Given the description of an element on the screen output the (x, y) to click on. 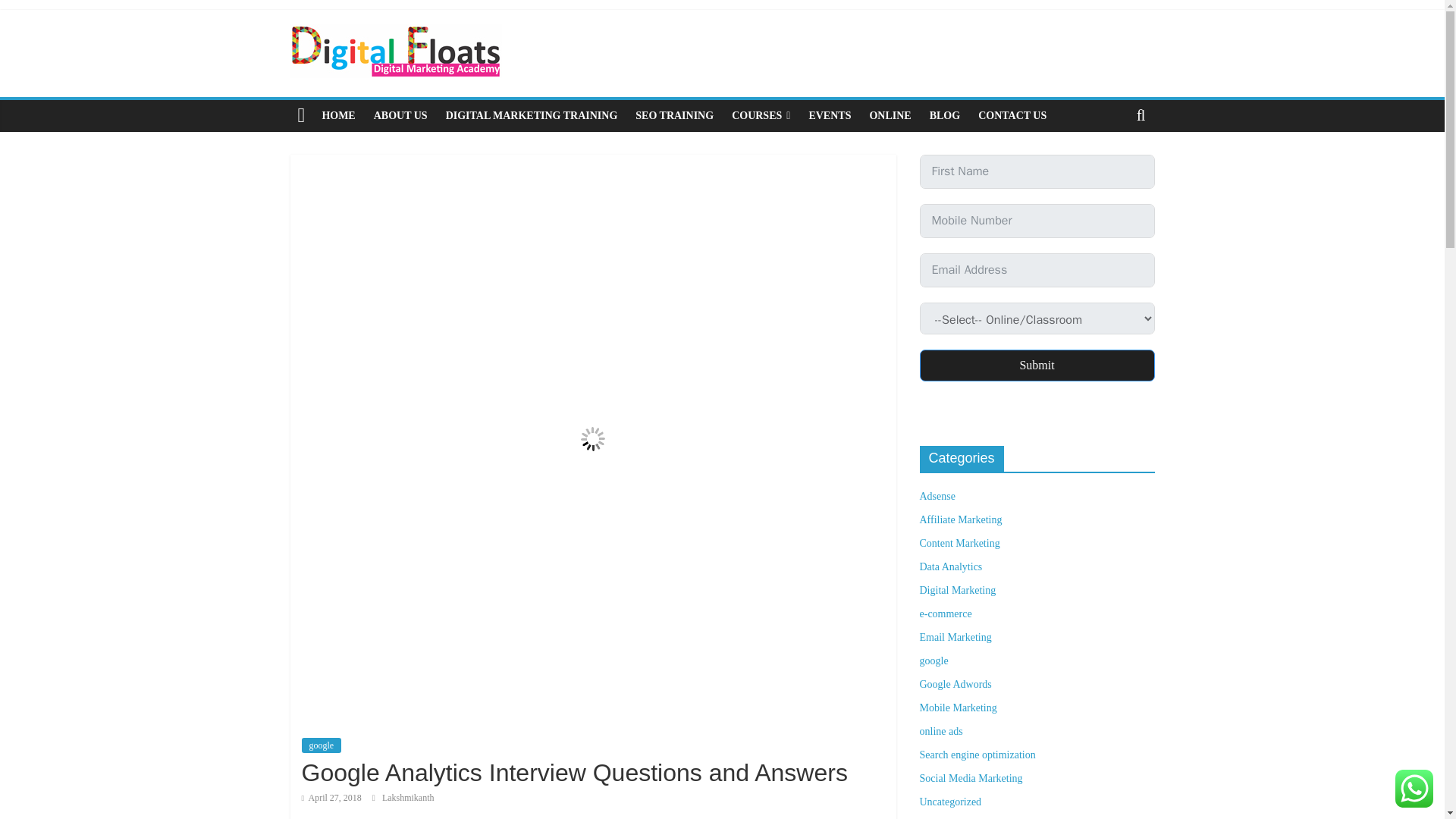
Lakshmikanth (407, 797)
7:53 am (331, 797)
BLOG (944, 115)
DIGITAL MARKETING TRAINING (531, 115)
April 27, 2018 (331, 797)
EVENTS (829, 115)
google (321, 744)
ABOUT US (400, 115)
HOME (338, 115)
Lakshmikanth (407, 797)
ONLINE (890, 115)
SEO TRAINING (674, 115)
COURSES (760, 115)
CONTACT US (1012, 115)
